Given the description of an element on the screen output the (x, y) to click on. 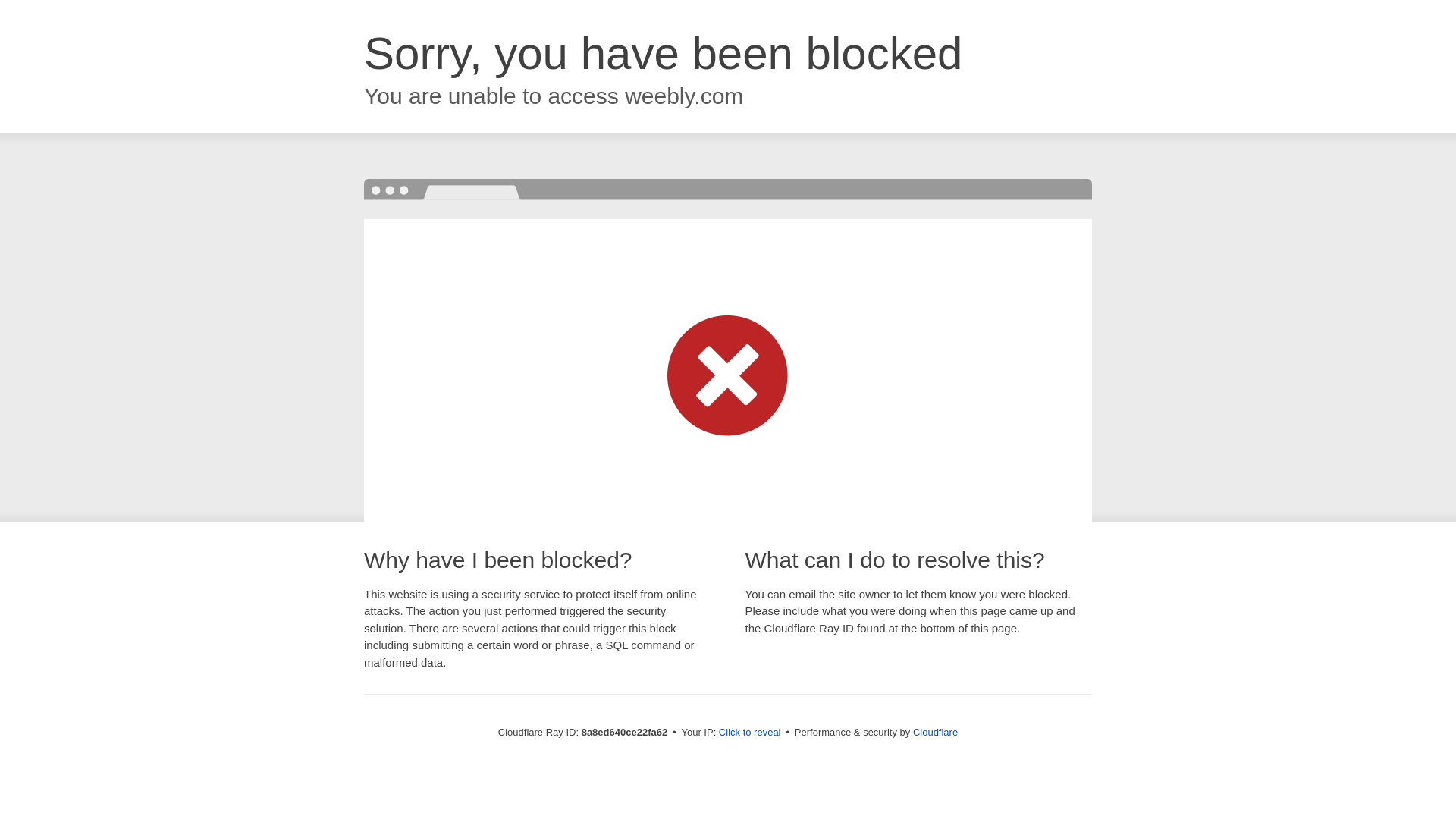
Cloudflare (935, 731)
Click to reveal (749, 732)
